Given the description of an element on the screen output the (x, y) to click on. 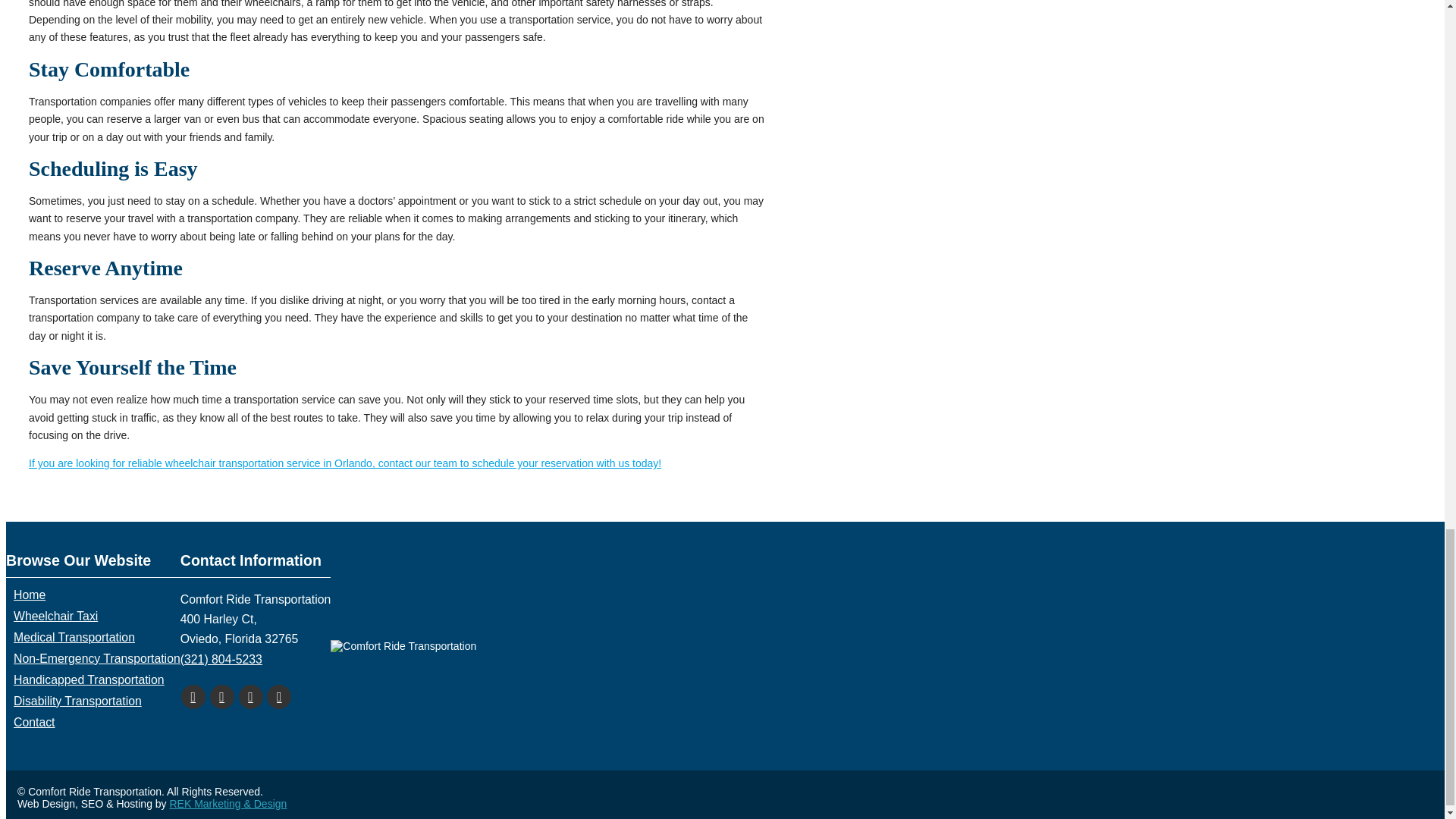
Wheelchair Taxi (55, 615)
Contact (34, 721)
Comfort Ride Transportation Bing (278, 696)
Non-Emergency Transportation (96, 658)
Handicapped Transportation (88, 679)
Comfort Ride Transportation Facebook (192, 696)
Disability Transportation (77, 700)
Medical Transportation (74, 636)
Home (29, 594)
Comfort Ride Transportation Yelp (250, 696)
Comfort Ride Transportation Google (221, 696)
